Given the description of an element on the screen output the (x, y) to click on. 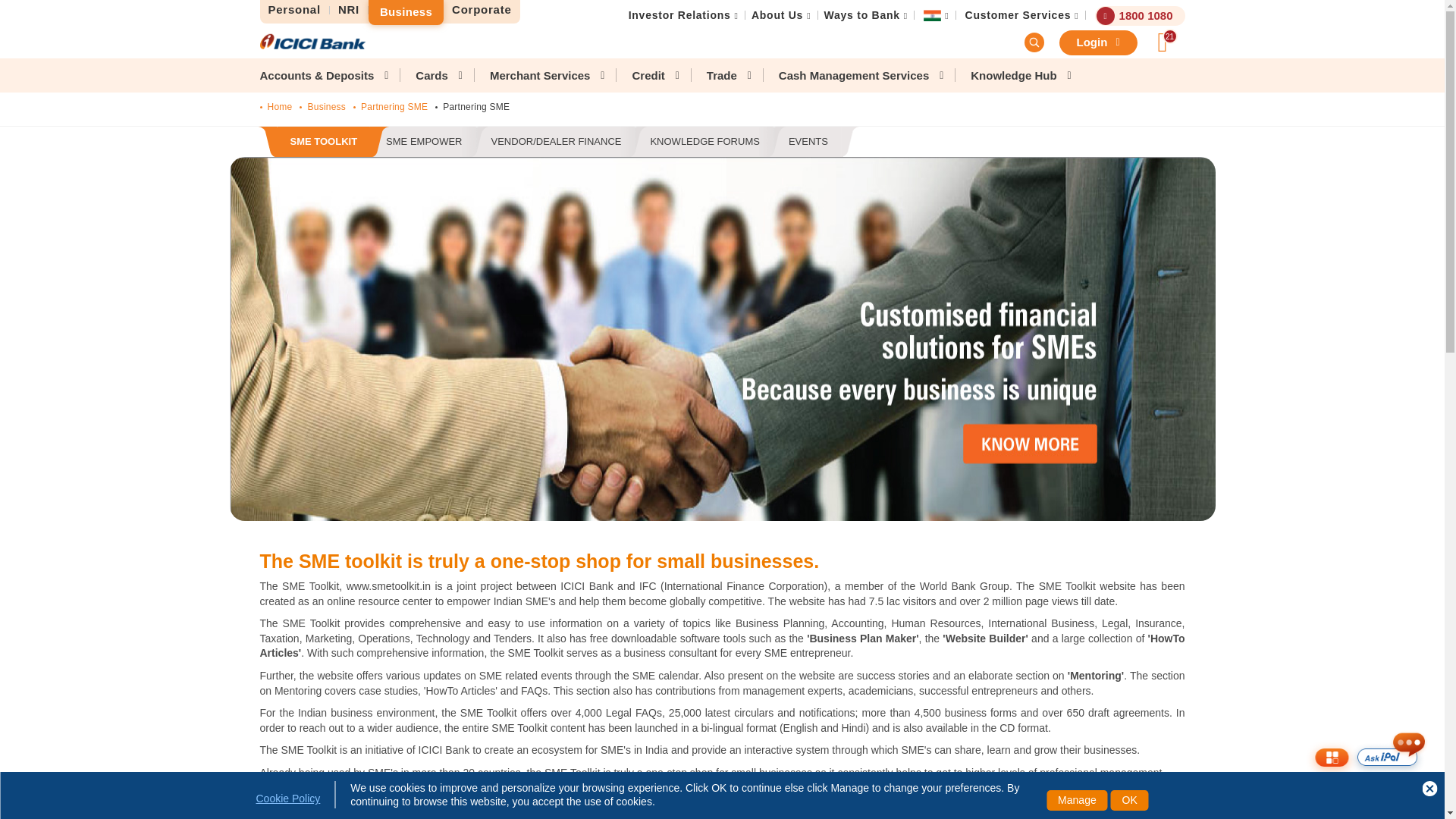
Investor Relations (679, 15)
Ways to Bank (861, 15)
About Us (777, 15)
Customer Services (1018, 15)
logo-image logo-india (312, 41)
Personal (294, 9)
Business (406, 12)
NRI (349, 9)
Corporate (481, 9)
